Given the description of an element on the screen output the (x, y) to click on. 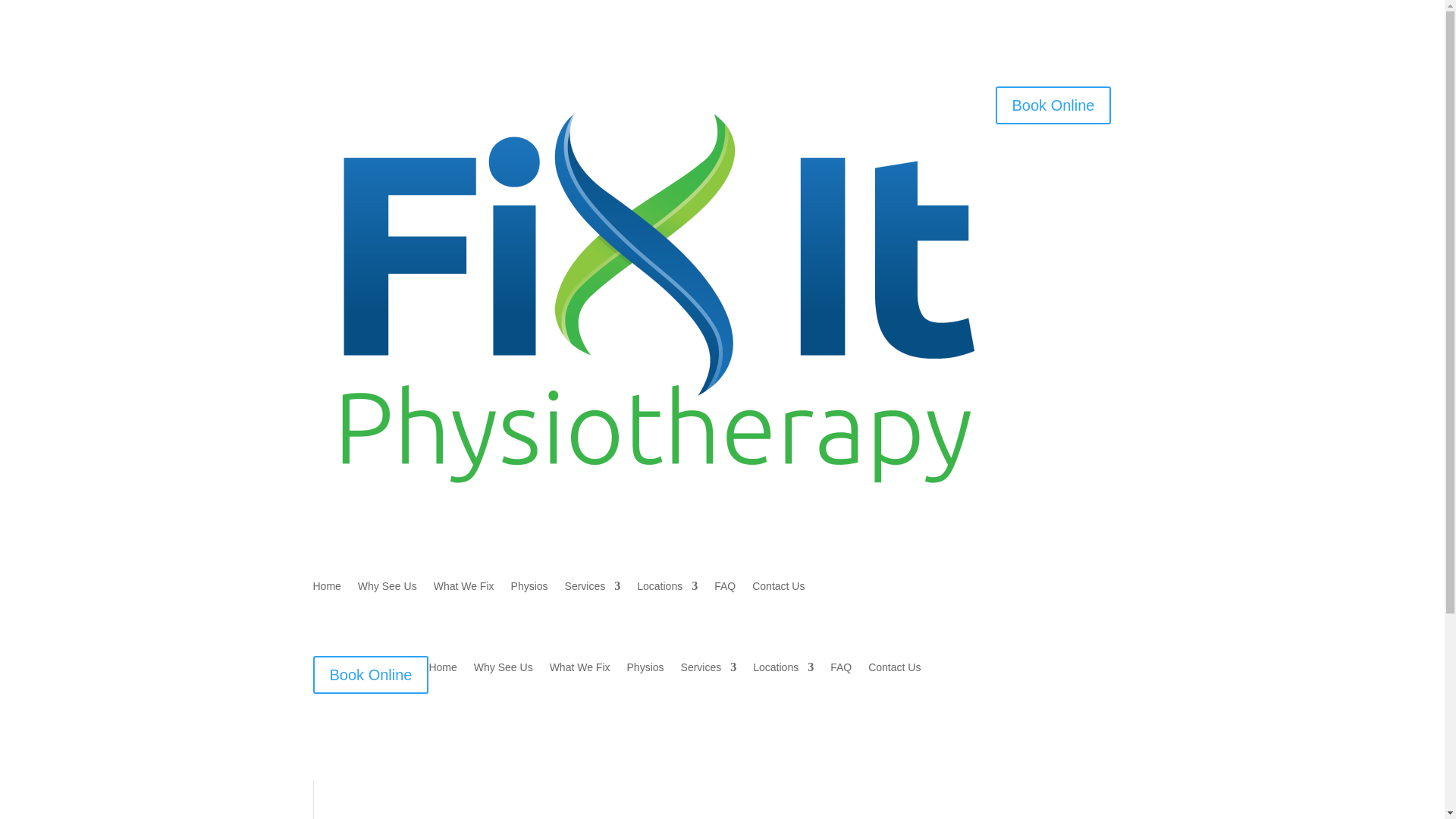
FAQ Element type: text (840, 670)
Contact Us Element type: text (894, 670)
Services Element type: text (592, 588)
Home Element type: text (326, 588)
Physios Element type: text (529, 588)
What We Fix Element type: text (579, 670)
FAQ Element type: text (724, 588)
Book Online Element type: text (1052, 105)
Physios Element type: text (645, 670)
Home Element type: text (442, 670)
Contact Us Element type: text (778, 588)
Fixitphysio_logo_gen Element type: hover (653, 301)
Book Online Element type: text (370, 674)
Services Element type: text (708, 670)
Locations Element type: text (667, 588)
Why See Us Element type: text (503, 670)
Locations Element type: text (783, 670)
What We Fix Element type: text (463, 588)
Why See Us Element type: text (387, 588)
